Given the description of an element on the screen output the (x, y) to click on. 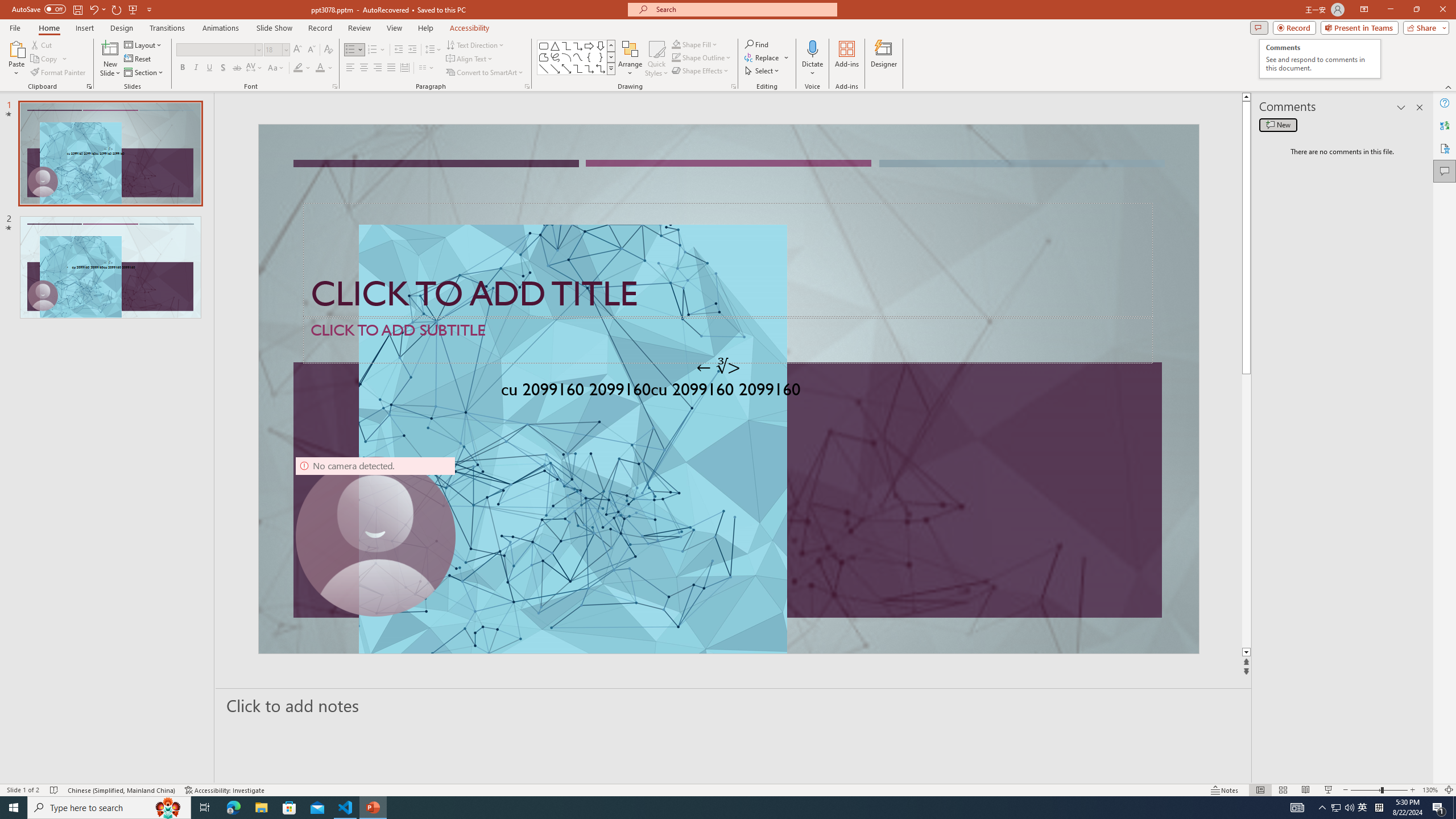
Shape Fill Dark Green, Accent 2 (675, 44)
Zoom 130% (1430, 790)
